Given the description of an element on the screen output the (x, y) to click on. 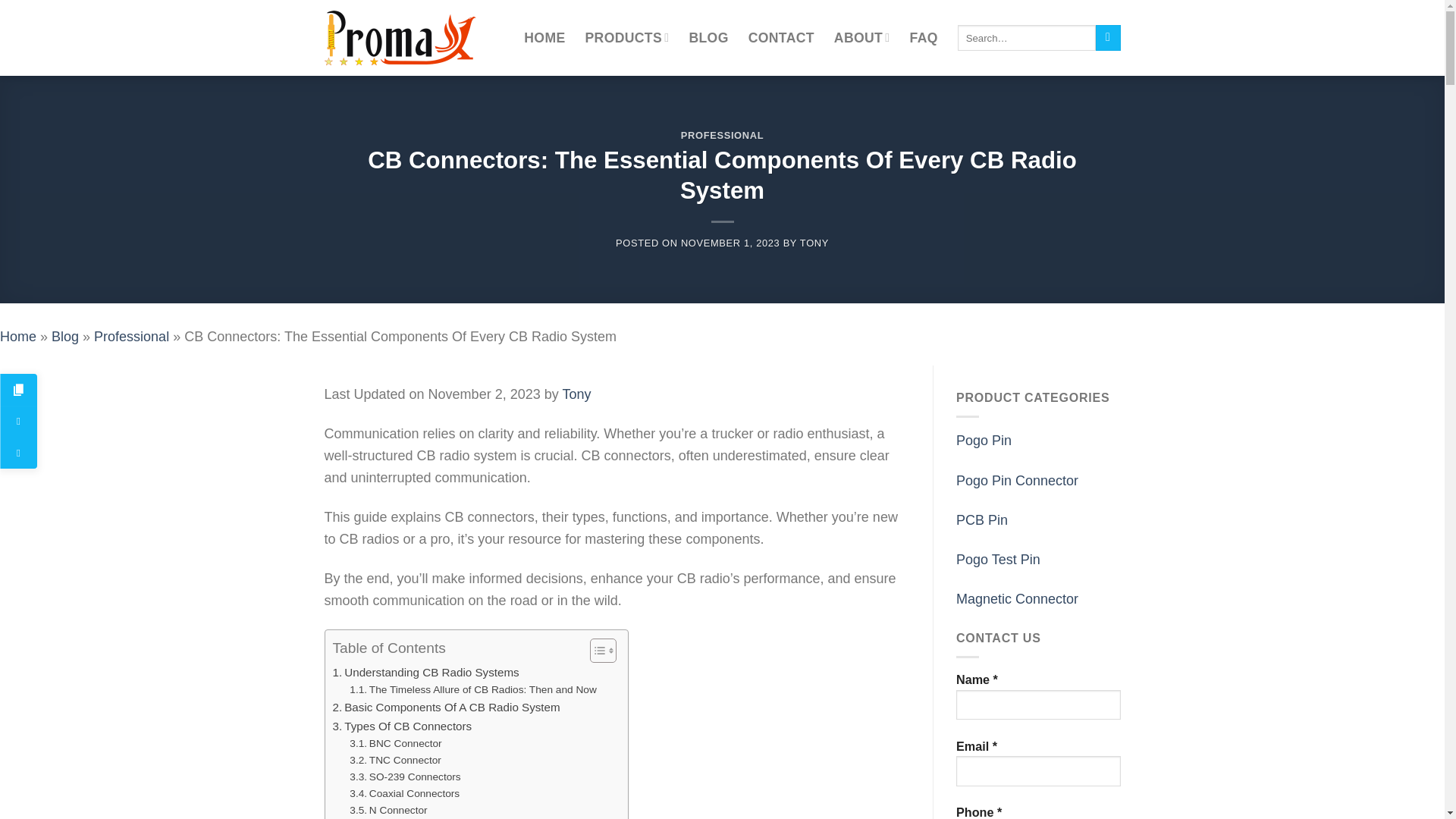
HOME (544, 37)
BLOG (708, 37)
Coaxial Connectors (404, 793)
Types Of CB Connectors (401, 726)
TNC Connector (395, 760)
Understanding CB Radio Systems (424, 672)
N Connector (387, 810)
BNC Connector (395, 743)
PRODUCTS (627, 37)
Basic Components Of A CB Radio System (445, 707)
The Timeless Allure of CB Radios: Then and Now (472, 689)
SO-239 Connectors (404, 777)
